Given the description of an element on the screen output the (x, y) to click on. 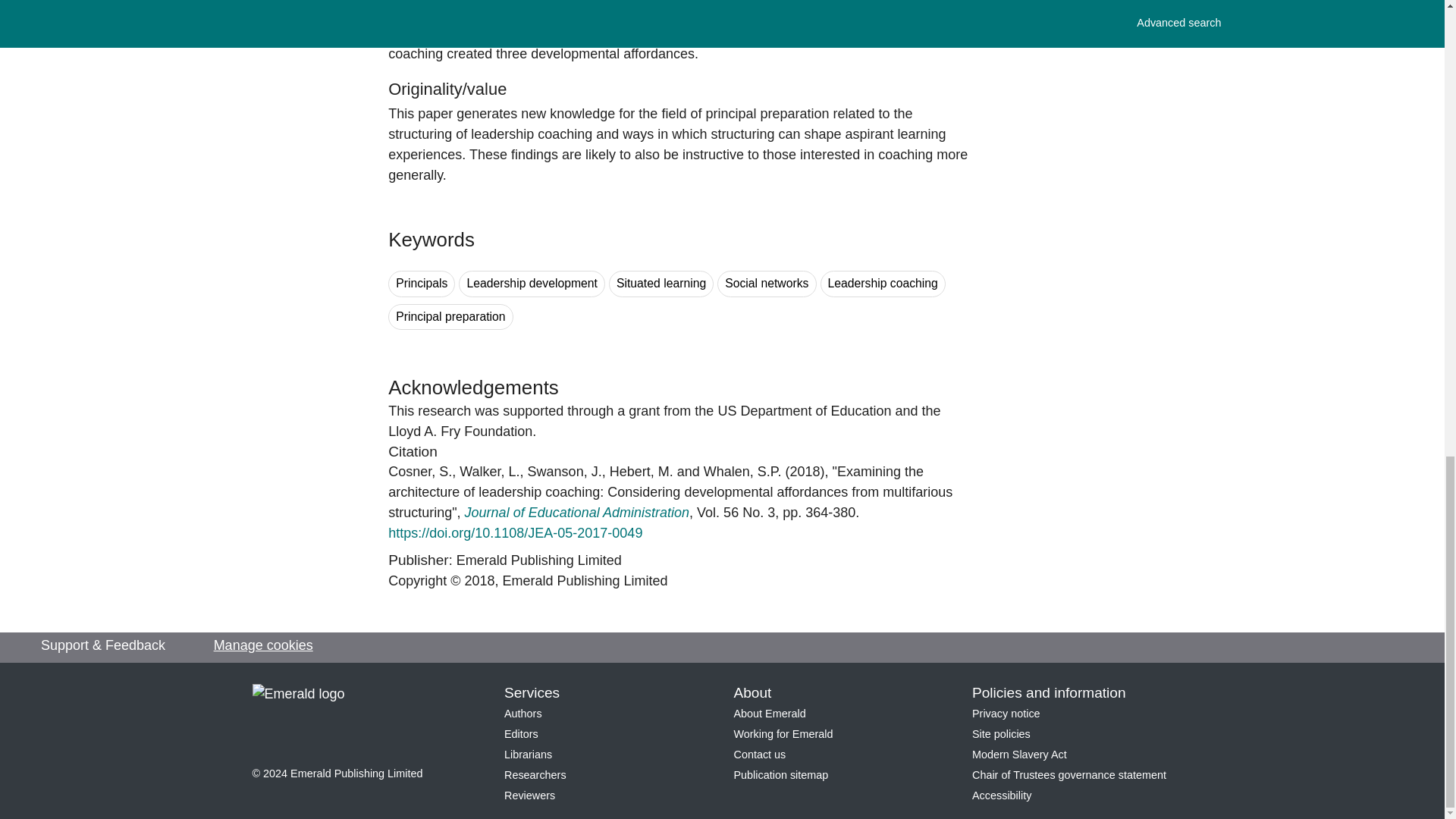
Search for keyword Leadership development (531, 284)
Shelby Cosner (419, 471)
Leadership coaching (882, 284)
Situated learning (660, 284)
Manage cookies (263, 645)
Principals (421, 284)
Journal of Educational Administration (577, 512)
Search for keyword Principals (421, 284)
Whalen, S.P. (742, 471)
Swanson, J. (564, 471)
Jason Swanson (564, 471)
Lisa Walker (489, 471)
Martha Hebert (641, 471)
Samuel P. Whalen (742, 471)
Search for keyword Situated learning (660, 284)
